Given the description of an element on the screen output the (x, y) to click on. 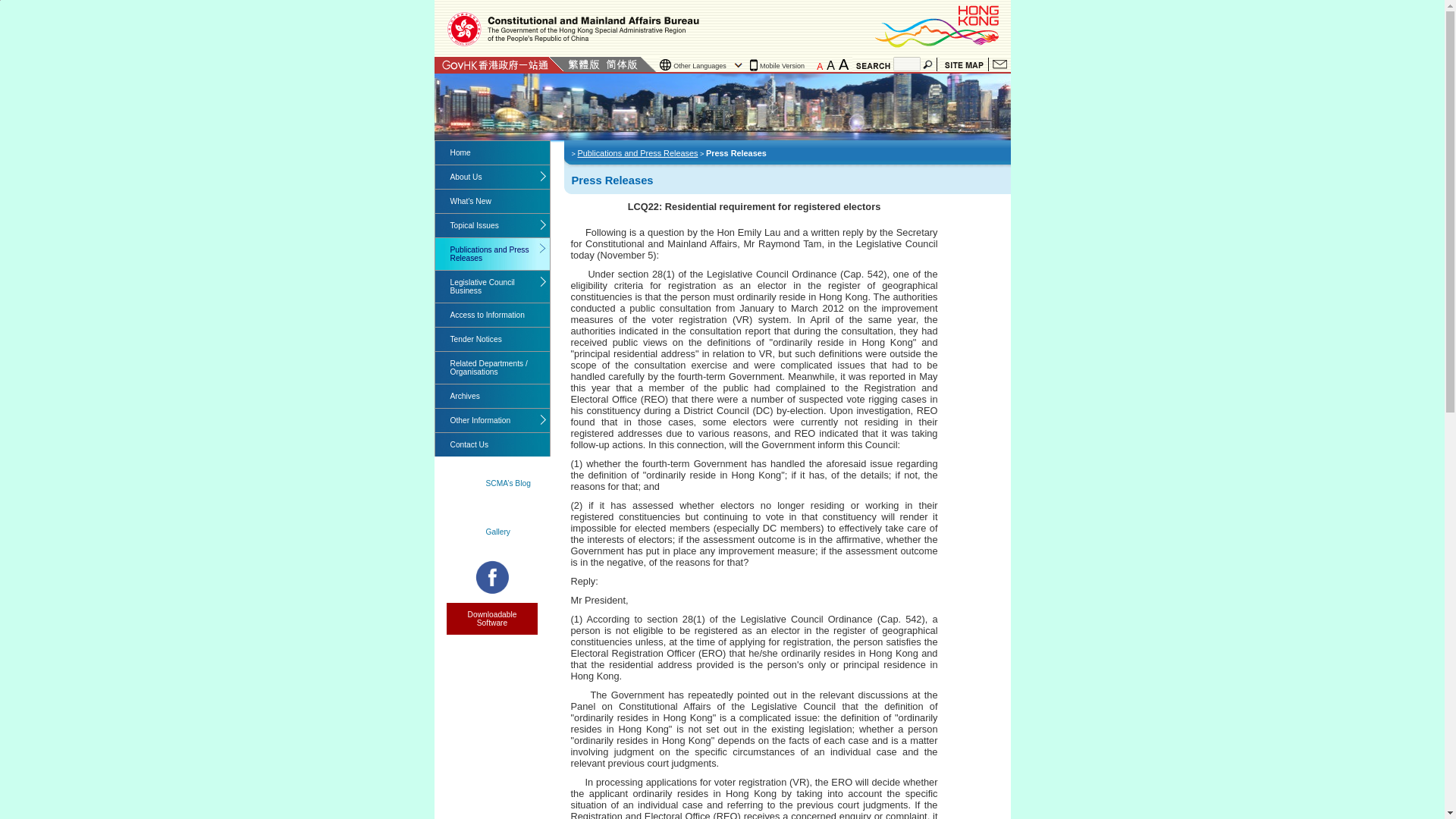
What's New (492, 200)
Topical Issues (492, 225)
Brand Hong Kong - Asia's world city (938, 26)
Contact Us (999, 64)
Site Map (963, 64)
Search (928, 64)
Simplified Chinese (621, 64)
Home (492, 152)
